Given the description of an element on the screen output the (x, y) to click on. 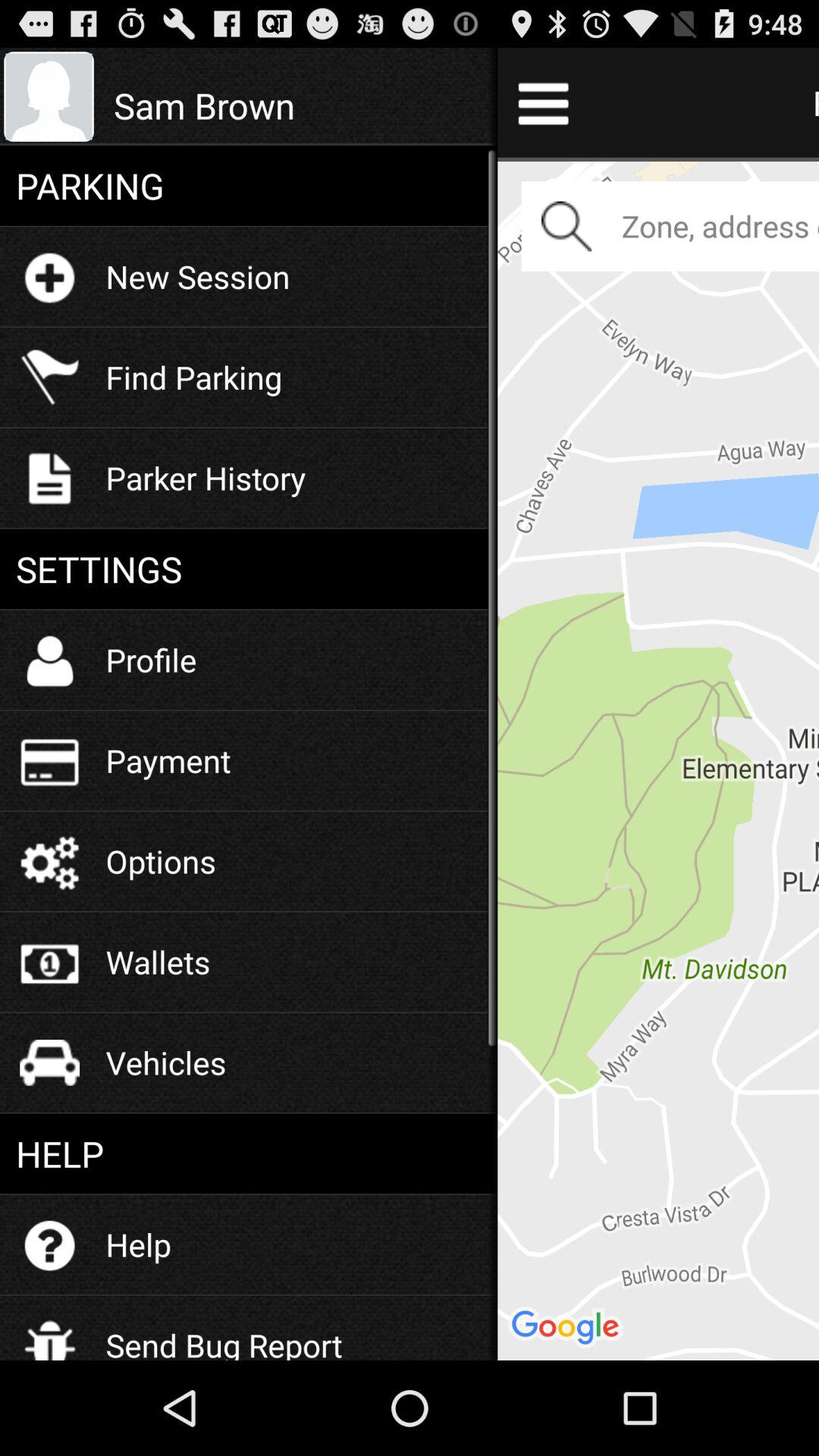
select the icon below wallets icon (165, 1061)
